Given the description of an element on the screen output the (x, y) to click on. 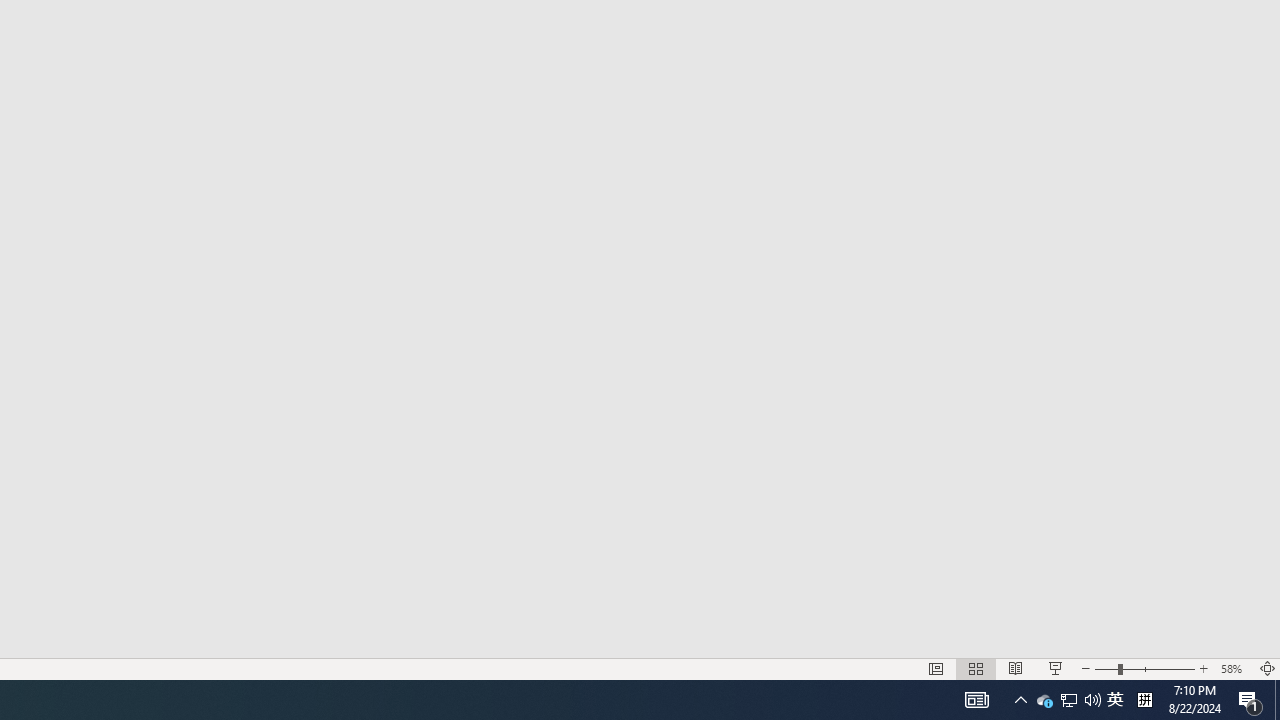
Zoom 58% (1234, 668)
